Given the description of an element on the screen output the (x, y) to click on. 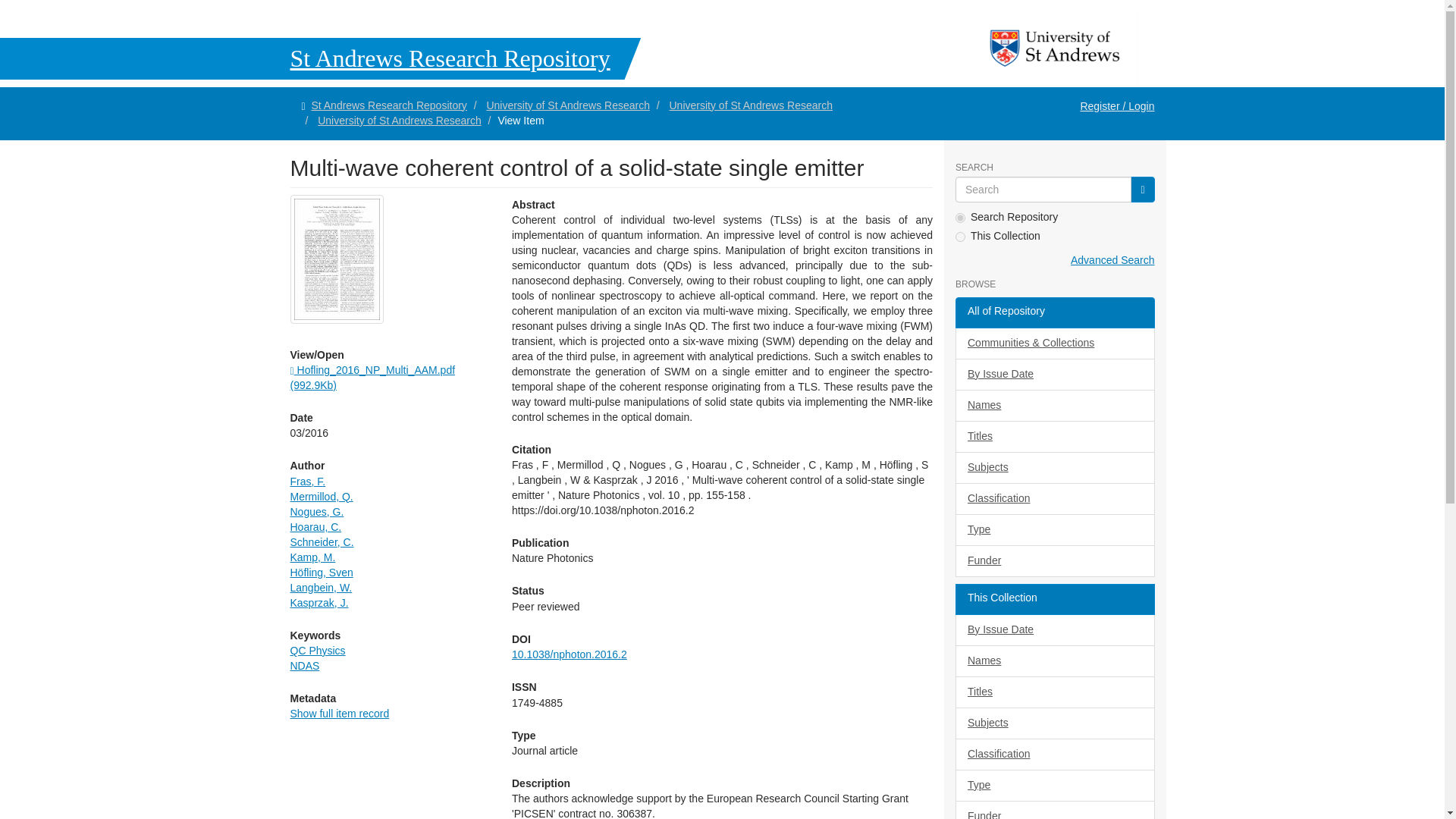
University of St Andrews Research (399, 120)
Schneider, C. (321, 541)
Kamp, M. (311, 557)
Advanced Search (1112, 259)
Nogues, G. (316, 511)
Hoarau, C. (314, 526)
St Andrews Research Repository (388, 105)
University of St Andrews Research (750, 105)
St Andrews University Home (1055, 48)
Fras, F. (306, 481)
NDAS (303, 665)
Mermillod, Q. (320, 496)
St Andrews Research Repository (320, 58)
University of St Andrews Research (567, 105)
QC Physics (317, 650)
